Given the description of an element on the screen output the (x, y) to click on. 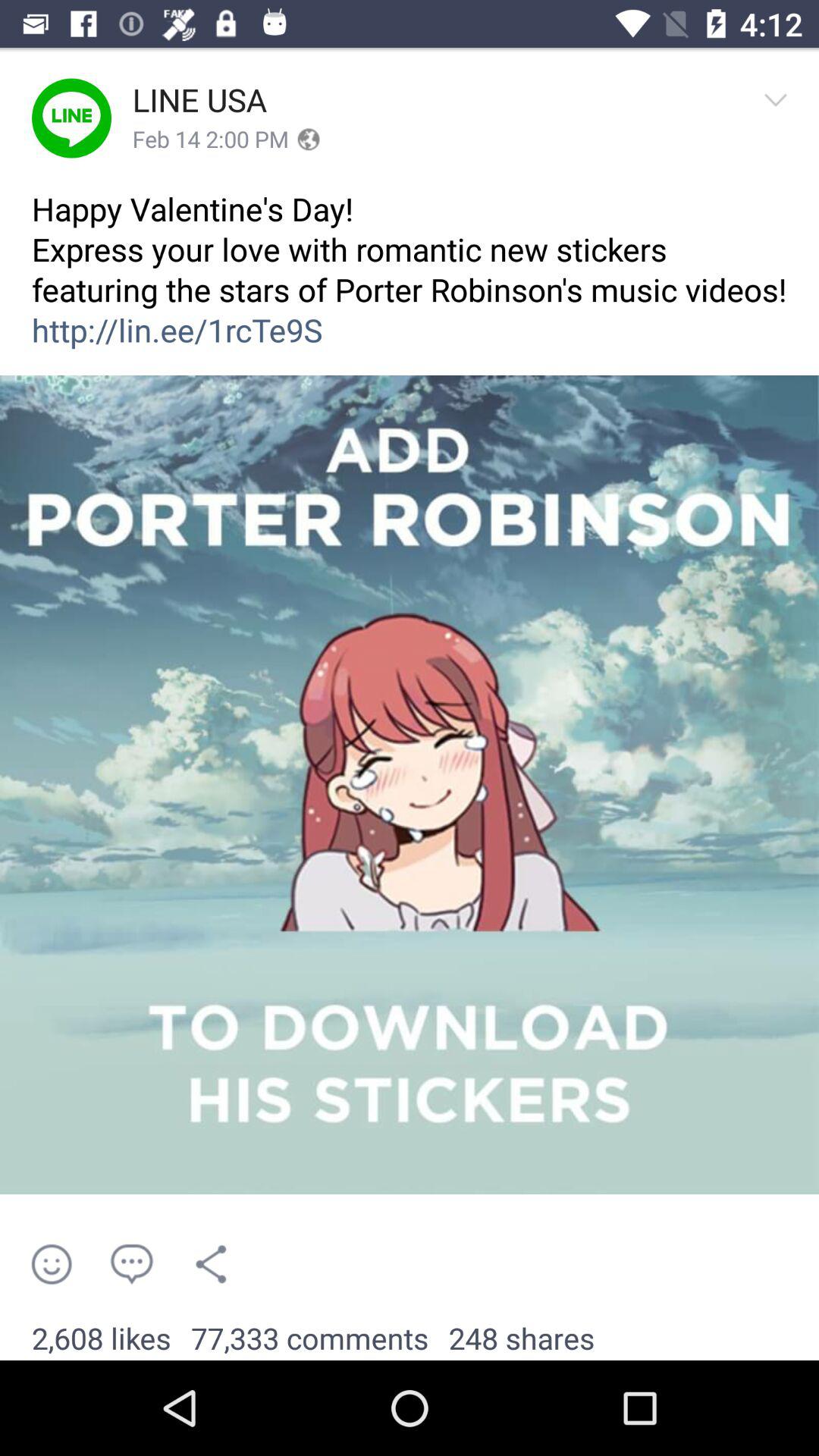
choose the item at the top right corner (780, 118)
